Given the description of an element on the screen output the (x, y) to click on. 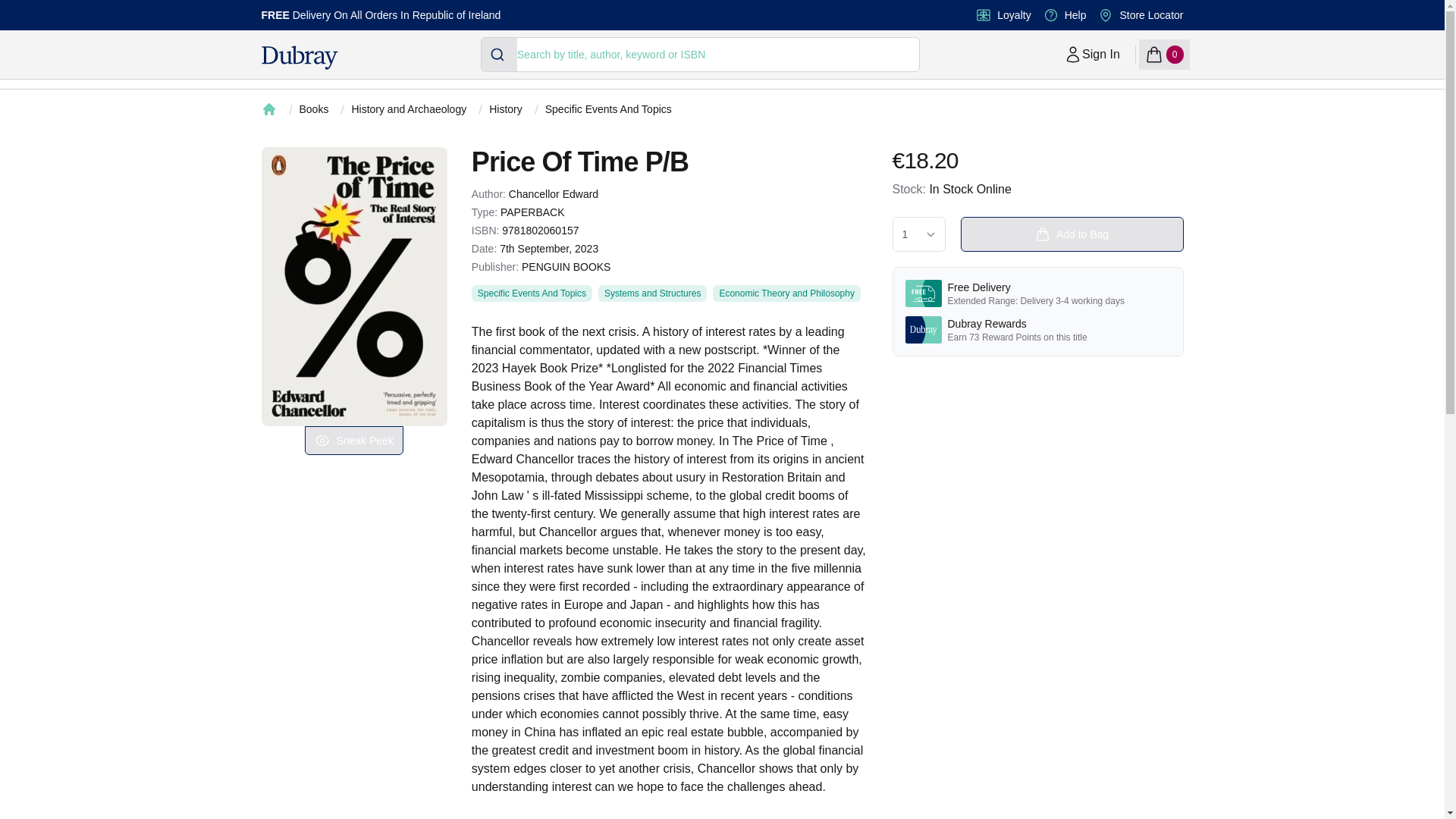
Systems and Structures (652, 293)
Add to Bag (1070, 234)
Loyalty (1013, 14)
History (505, 109)
Store Locator (1091, 54)
History and Archaeology (1163, 54)
Help (1150, 14)
Sneak Peek (407, 109)
